Given the description of an element on the screen output the (x, y) to click on. 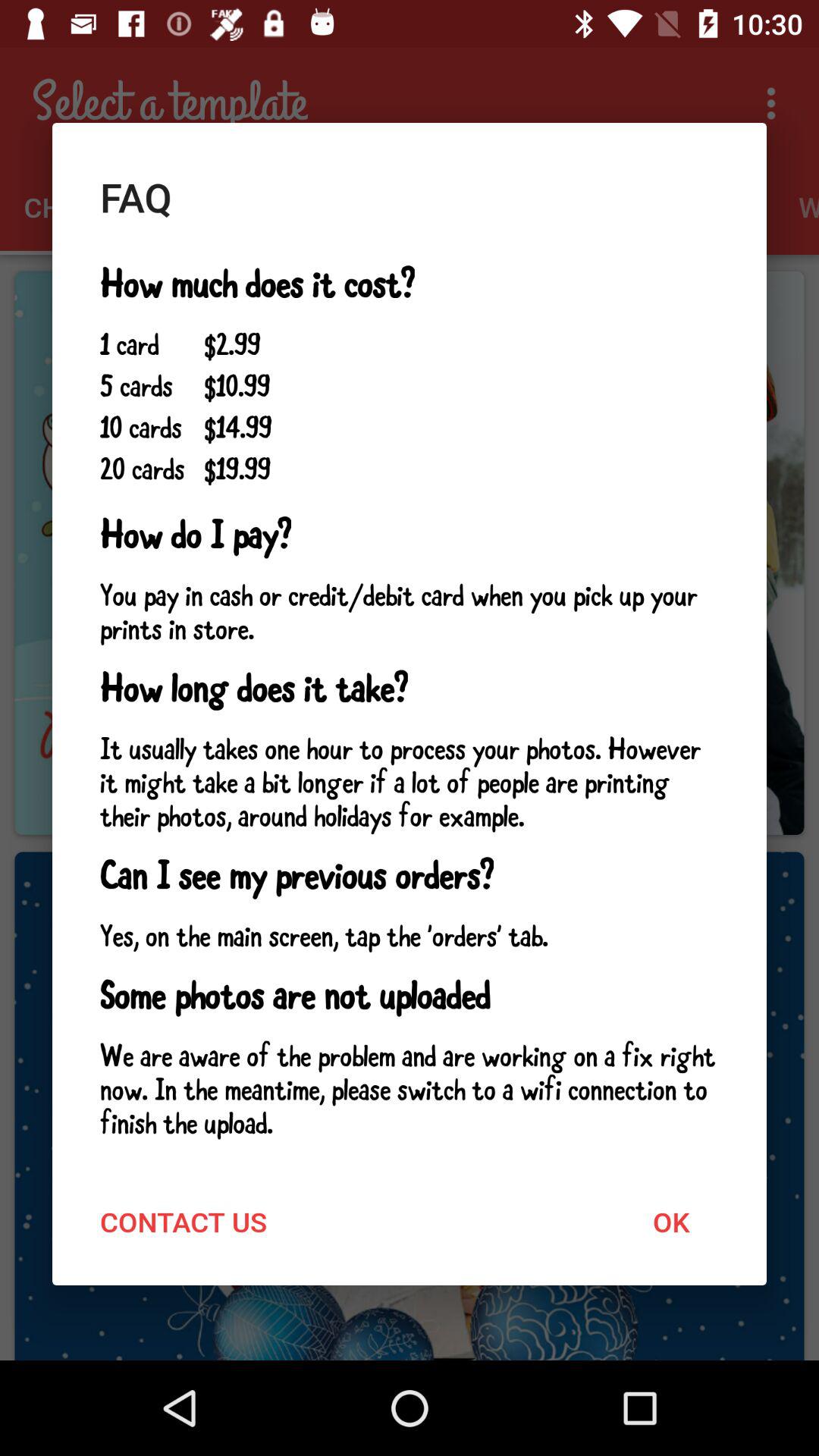
open the item next to the ok icon (183, 1221)
